Given the description of an element on the screen output the (x, y) to click on. 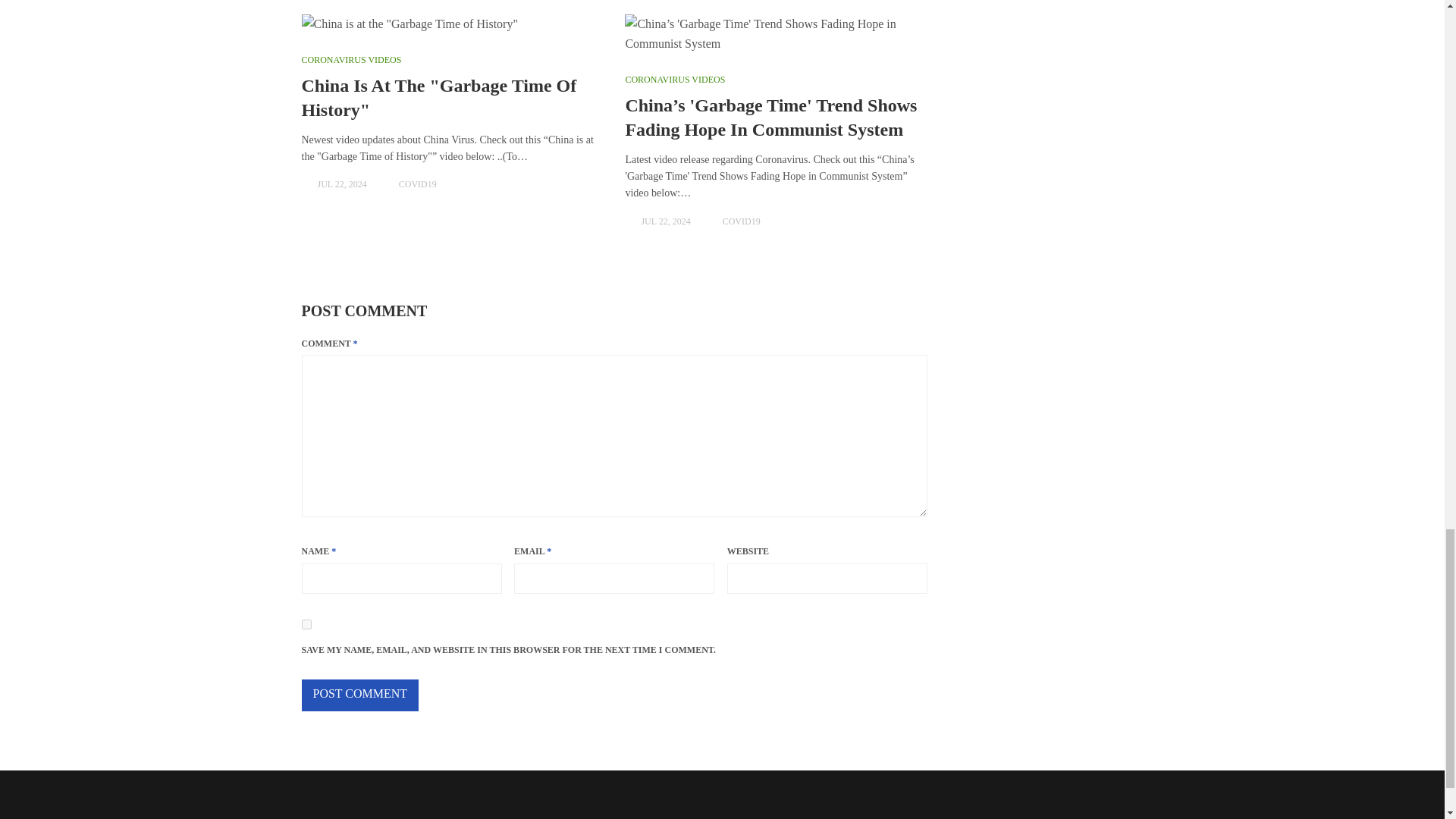
China is at the "Garbage Time of History" (452, 24)
yes (306, 624)
Post Comment (360, 695)
